Given the description of an element on the screen output the (x, y) to click on. 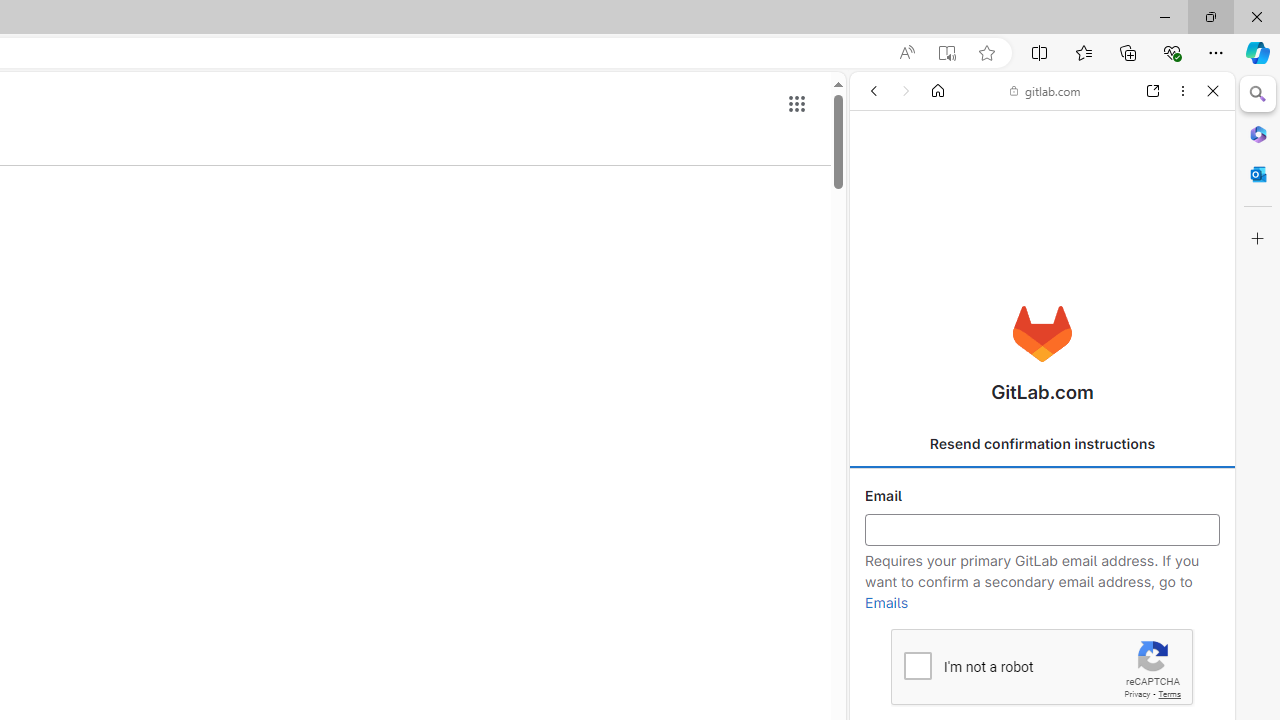
Register Now (1042, 445)
I'm not a robot (916, 664)
GitLab.com (1042, 333)
Close Search pane (1258, 94)
Resend confirmation instructions (1042, 443)
About GitLab (1042, 592)
